Given the description of an element on the screen output the (x, y) to click on. 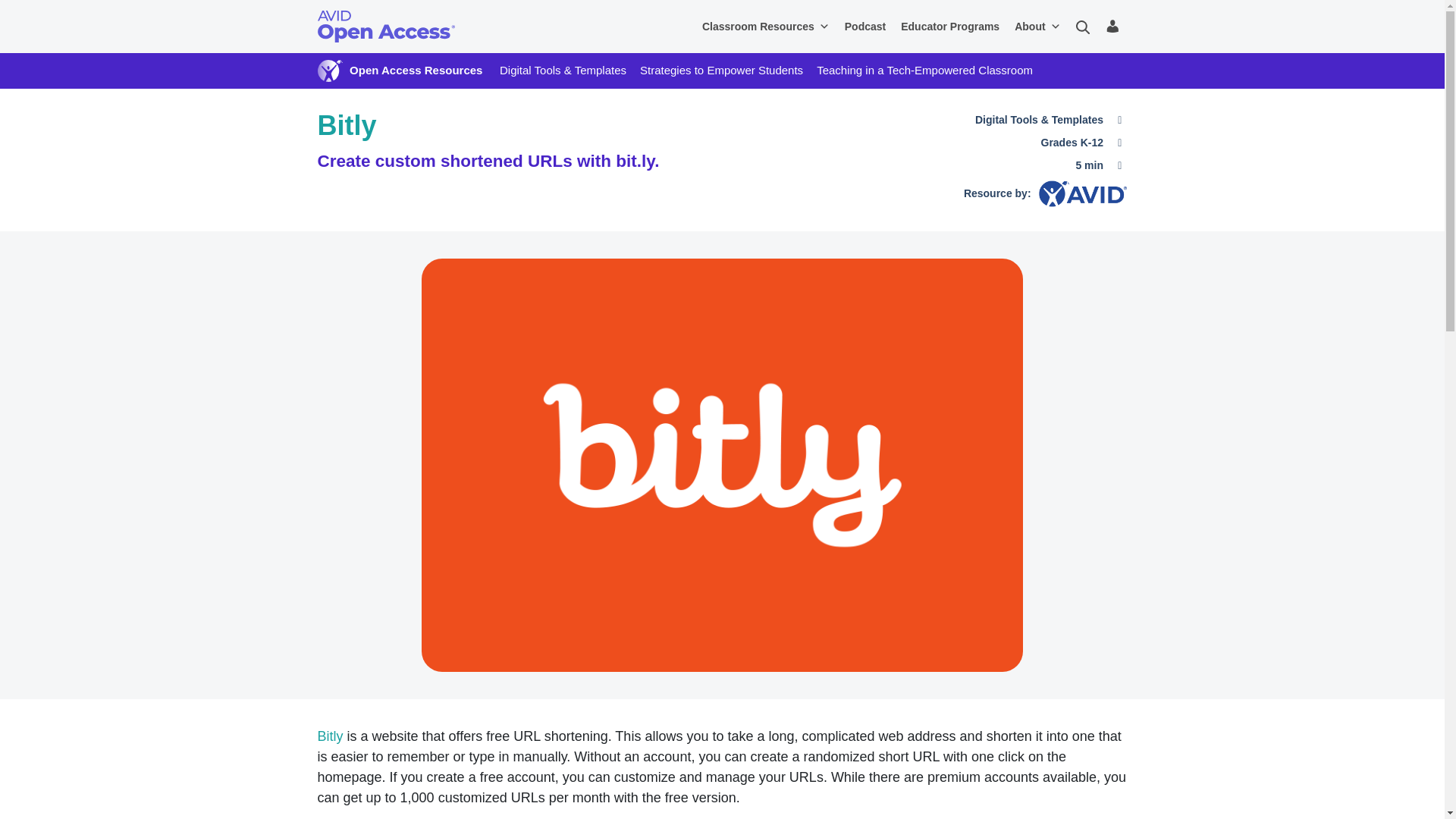
Podcast (865, 26)
Bitly (329, 735)
Classroom Resources (765, 26)
About (1037, 26)
Educator Programs (950, 26)
Strategies to Empower Students (721, 69)
Open Access Resources (415, 69)
Teaching in a Tech-Empowered Classroom (924, 69)
